Given the description of an element on the screen output the (x, y) to click on. 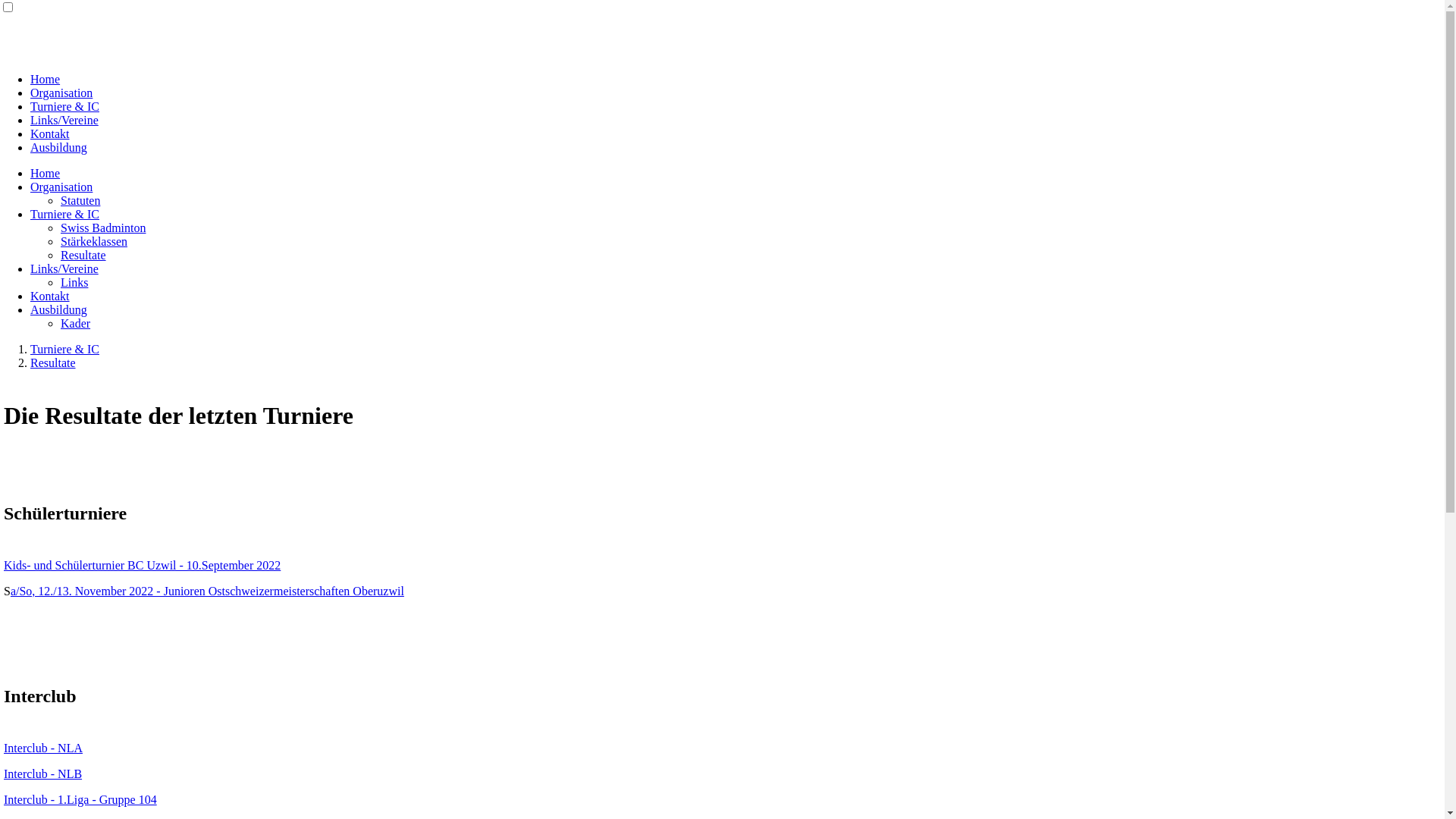
Swiss Badminton Element type: text (102, 227)
Statuten Element type: text (80, 200)
Turniere & IC Element type: text (64, 213)
Organisation Element type: text (61, 186)
Links/Vereine Element type: text (64, 119)
Kader Element type: text (75, 322)
Home Element type: text (44, 78)
Turniere & IC Element type: text (64, 348)
Links Element type: text (73, 282)
Turniere & IC Element type: text (64, 106)
Kontakt Element type: text (49, 133)
Resultate Element type: text (52, 362)
Organisation Element type: text (61, 92)
Home Element type: text (44, 172)
Interclub - NLA Element type: text (42, 747)
Ausbildung Element type: text (58, 309)
Kontakt Element type: text (49, 295)
Links/Vereine Element type: text (64, 268)
Interclub - 1.Liga - Gruppe 104 Element type: text (79, 799)
Ausbildung Element type: text (58, 147)
Resultate Element type: text (83, 254)
Interclub - NLB Element type: text (42, 773)
